Given the description of an element on the screen output the (x, y) to click on. 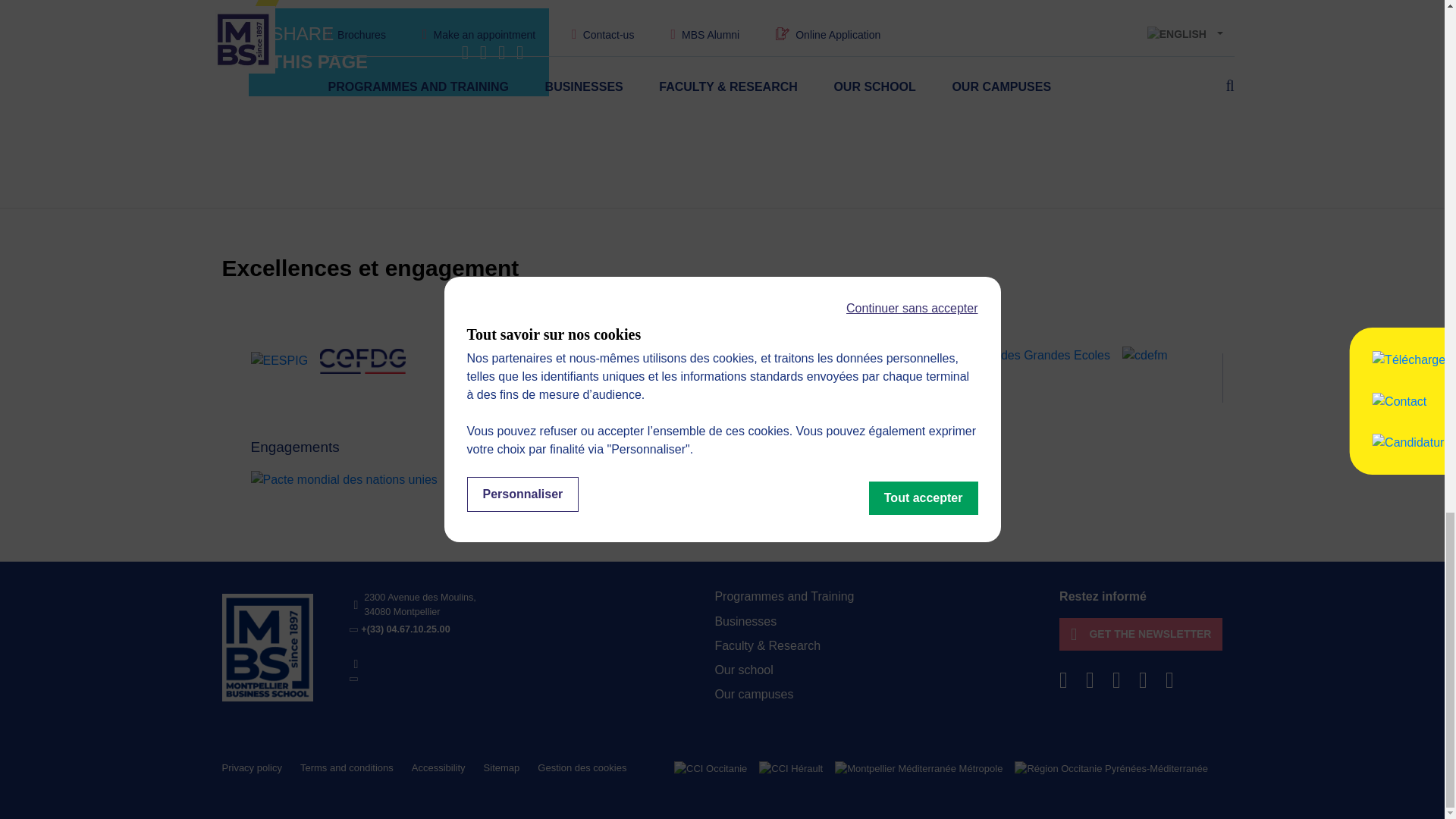
Go to the website "PRME" (472, 479)
Go to the website "Pacte mondial des nations unies" (343, 479)
Go to the website "DDRS" (955, 479)
Go to the website "cdefm" (1144, 354)
Go to the website "Autre Cercle" (829, 479)
Go to the website "CEFDG" (363, 360)
Go to the website "BSIS" (900, 479)
Go to the website "EESPIG" (278, 361)
